Given the description of an element on the screen output the (x, y) to click on. 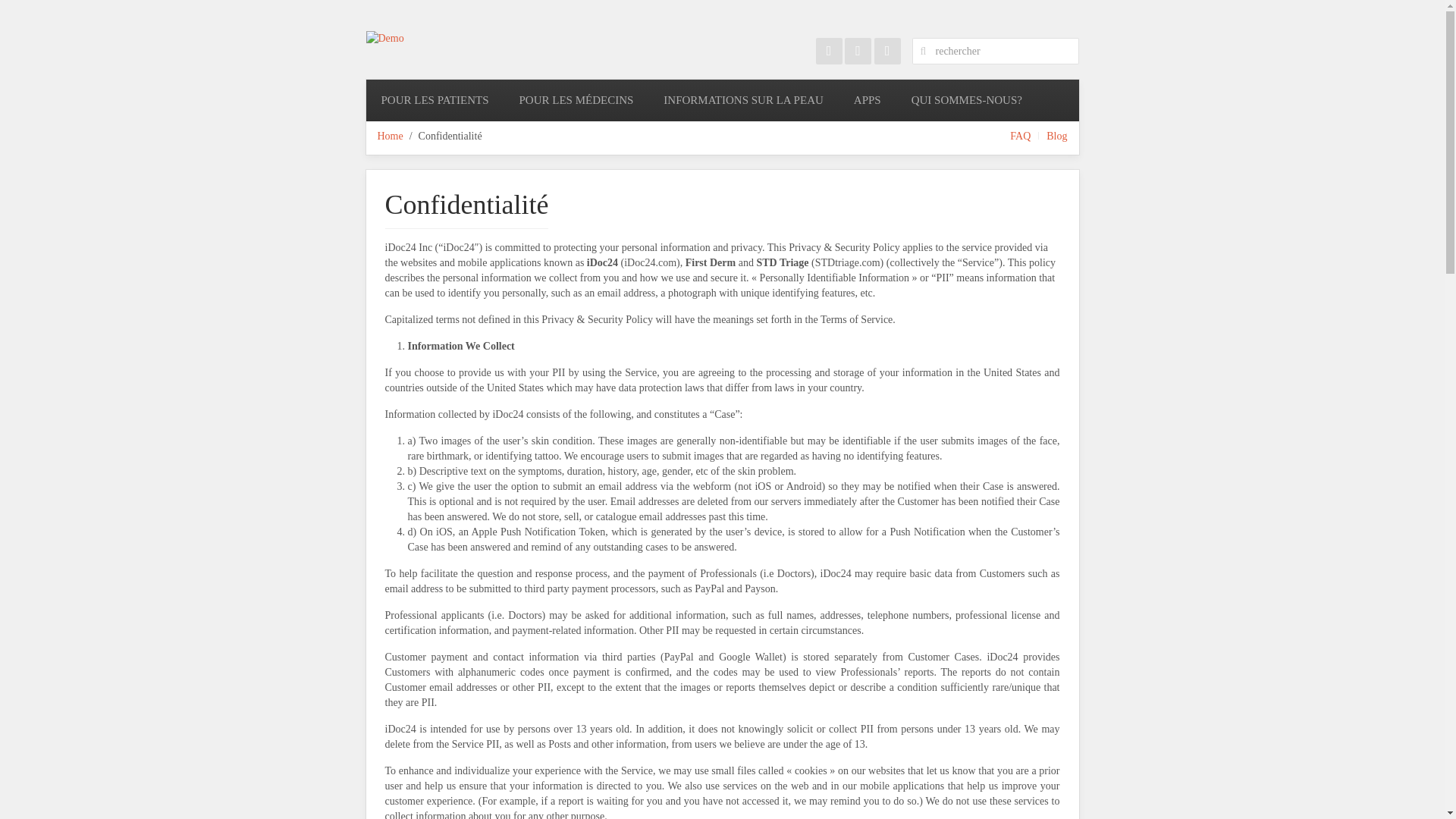
Blog (1056, 136)
Home (390, 136)
INFORMATIONS SUR LA PEAU (742, 100)
QUI SOMMES-NOUS? (966, 100)
POUR LES PATIENTS (434, 100)
APPS (867, 100)
FAQ (1020, 136)
